Given the description of an element on the screen output the (x, y) to click on. 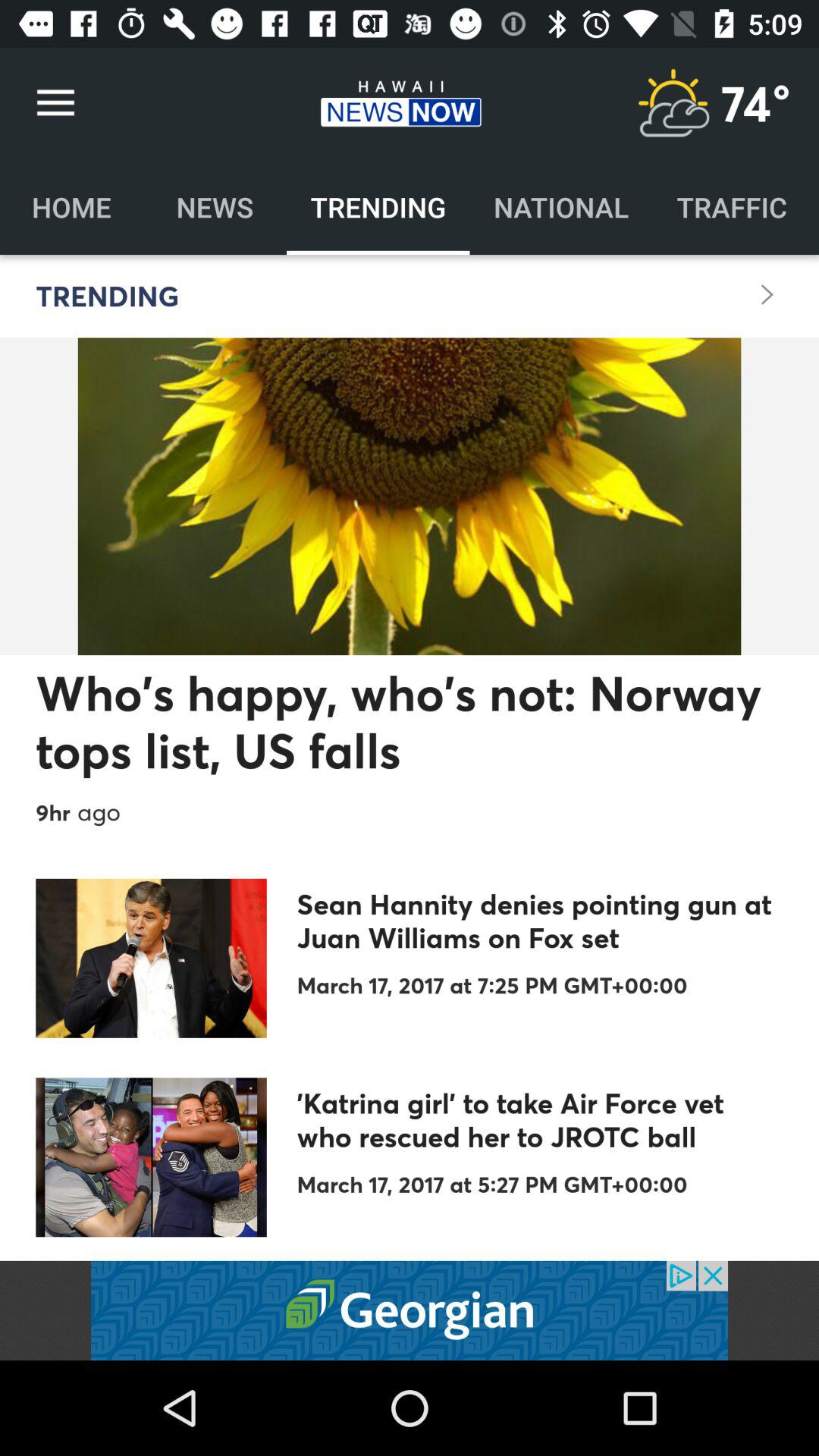
the arrow symbol shown below traffic at the top right corner (766, 295)
